Given the description of an element on the screen output the (x, y) to click on. 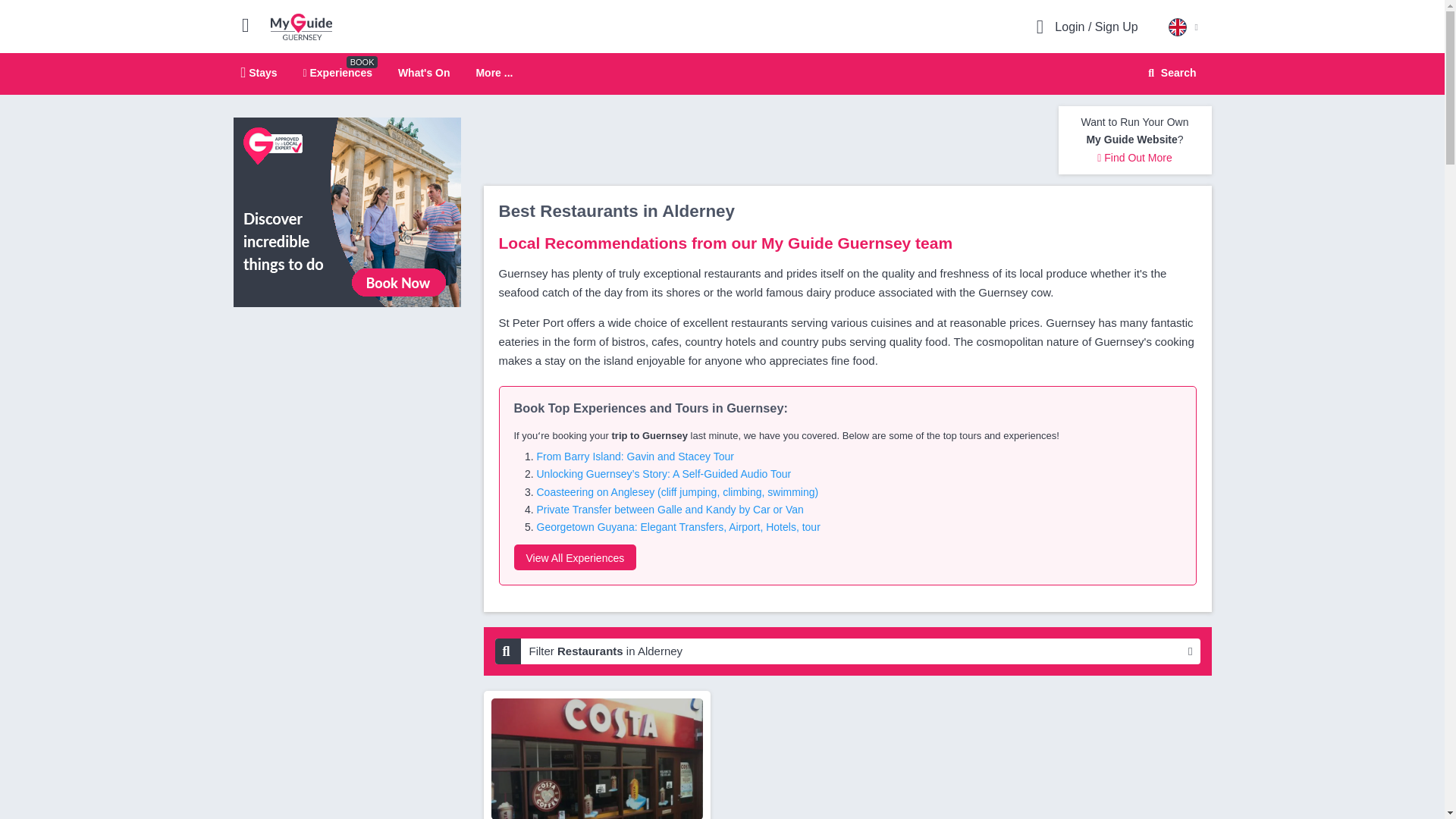
Search Website (1170, 73)
Search (721, 74)
View All Experiences (1169, 72)
More ... (575, 557)
Experiences (494, 72)
Stays (337, 72)
My Guide Guernsey (259, 72)
What's On (300, 25)
View All Experiences (423, 72)
